Given the description of an element on the screen output the (x, y) to click on. 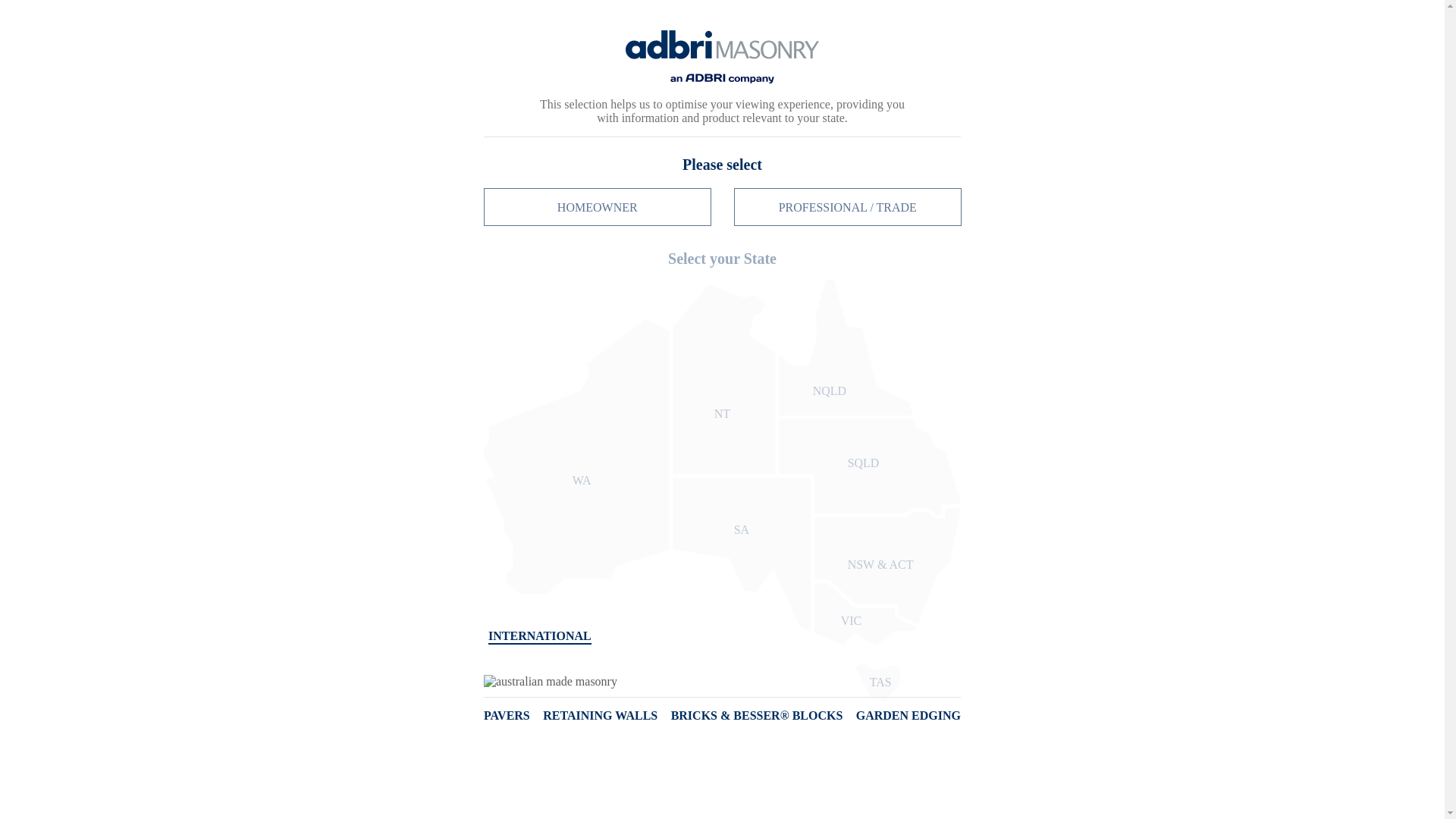
HOMEOWNER (1029, 15)
Products (634, 114)
Project Ideas (725, 114)
Homeowner (1029, 15)
Adbri Masonry (344, 83)
Products (634, 114)
